Given the description of an element on the screen output the (x, y) to click on. 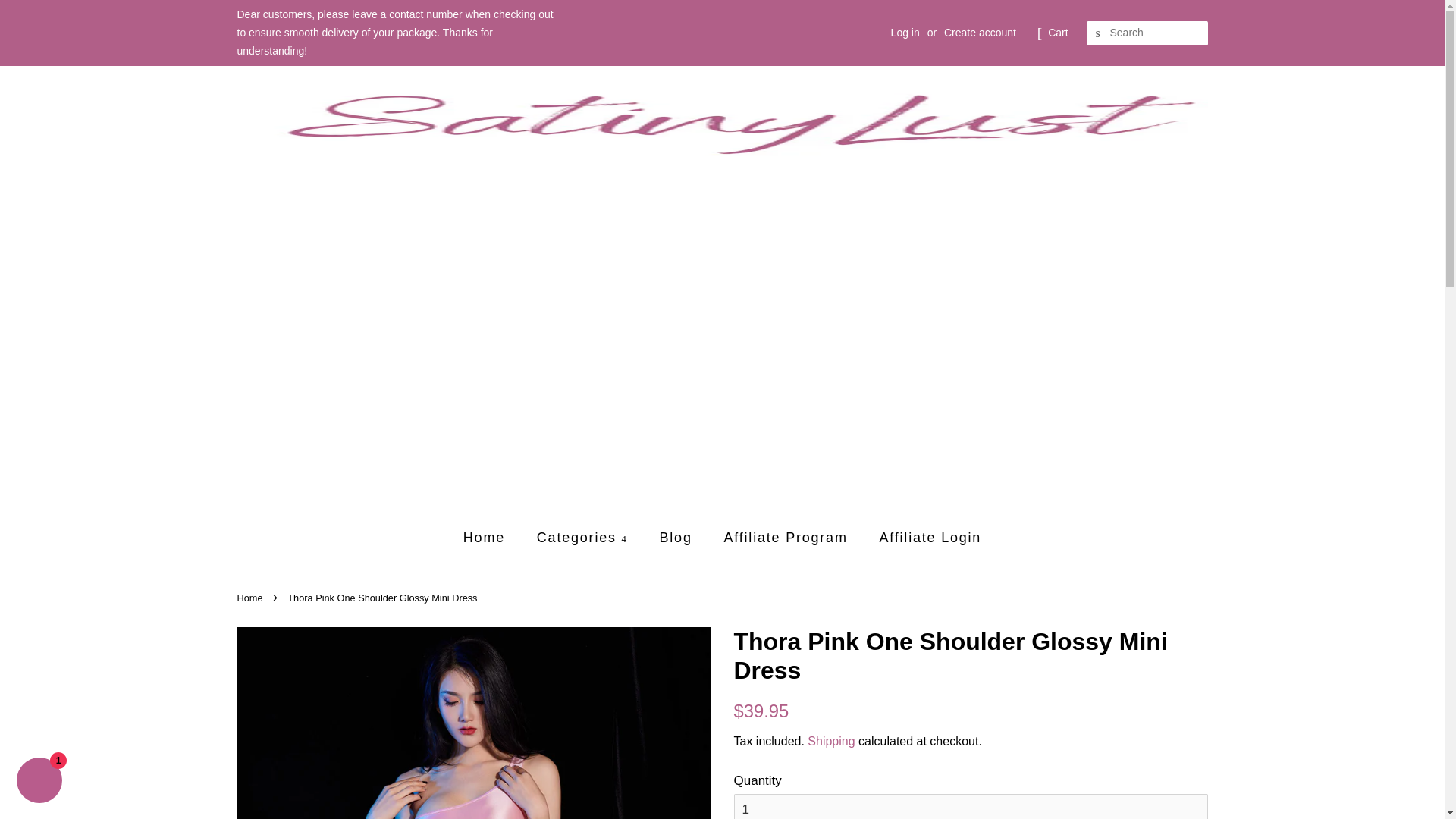
Categories (584, 537)
Home (491, 537)
Back to the frontpage (250, 597)
Cart (1057, 33)
1 (970, 806)
Log in (905, 32)
Create account (979, 32)
Search (1097, 33)
Shopify online store chat (38, 781)
